Given the description of an element on the screen output the (x, y) to click on. 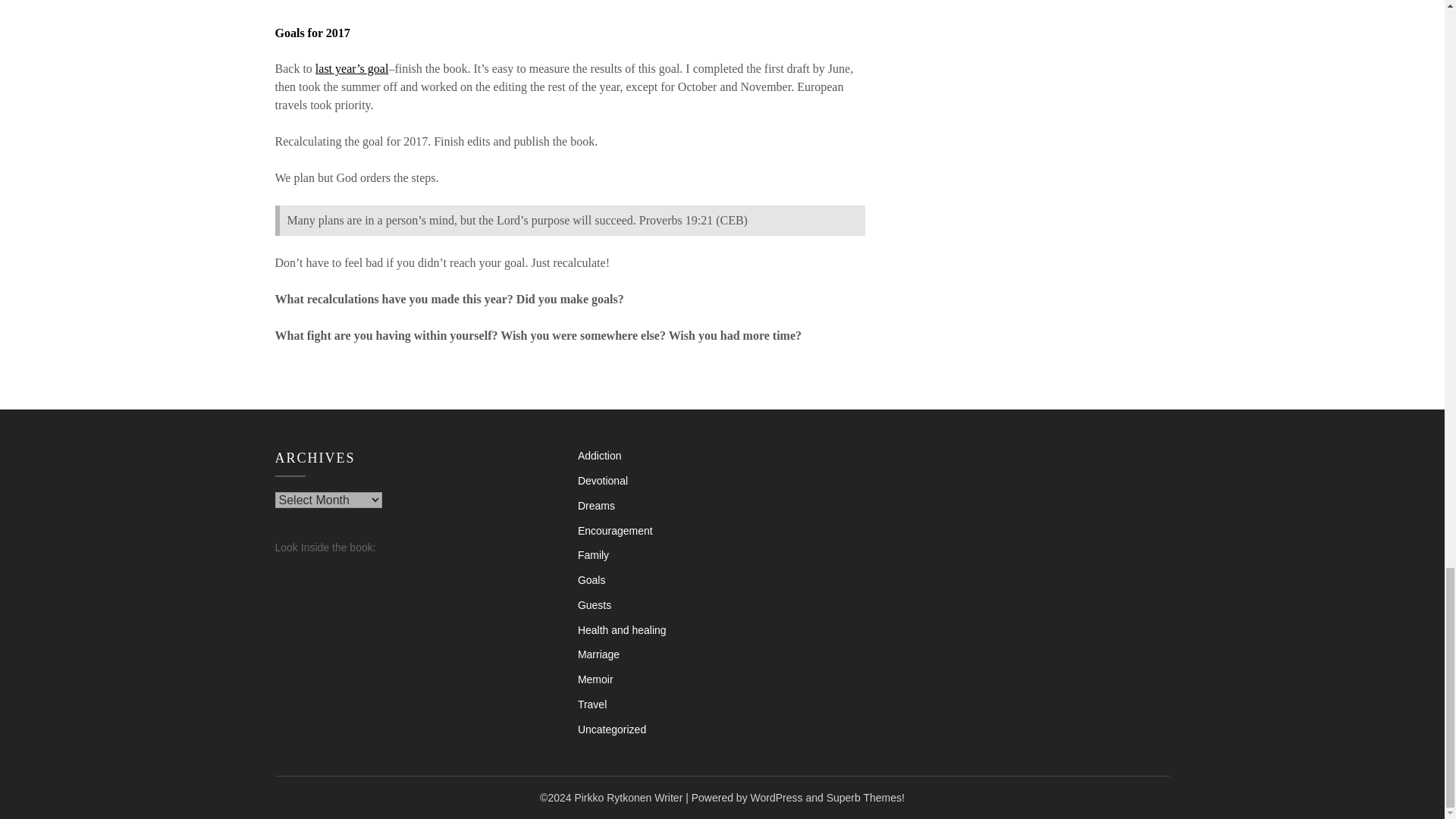
Family (593, 554)
Encouragement (615, 530)
Guests (594, 604)
Addiction (599, 455)
Goals (591, 580)
Dreams (596, 505)
Devotional (602, 480)
